Given the description of an element on the screen output the (x, y) to click on. 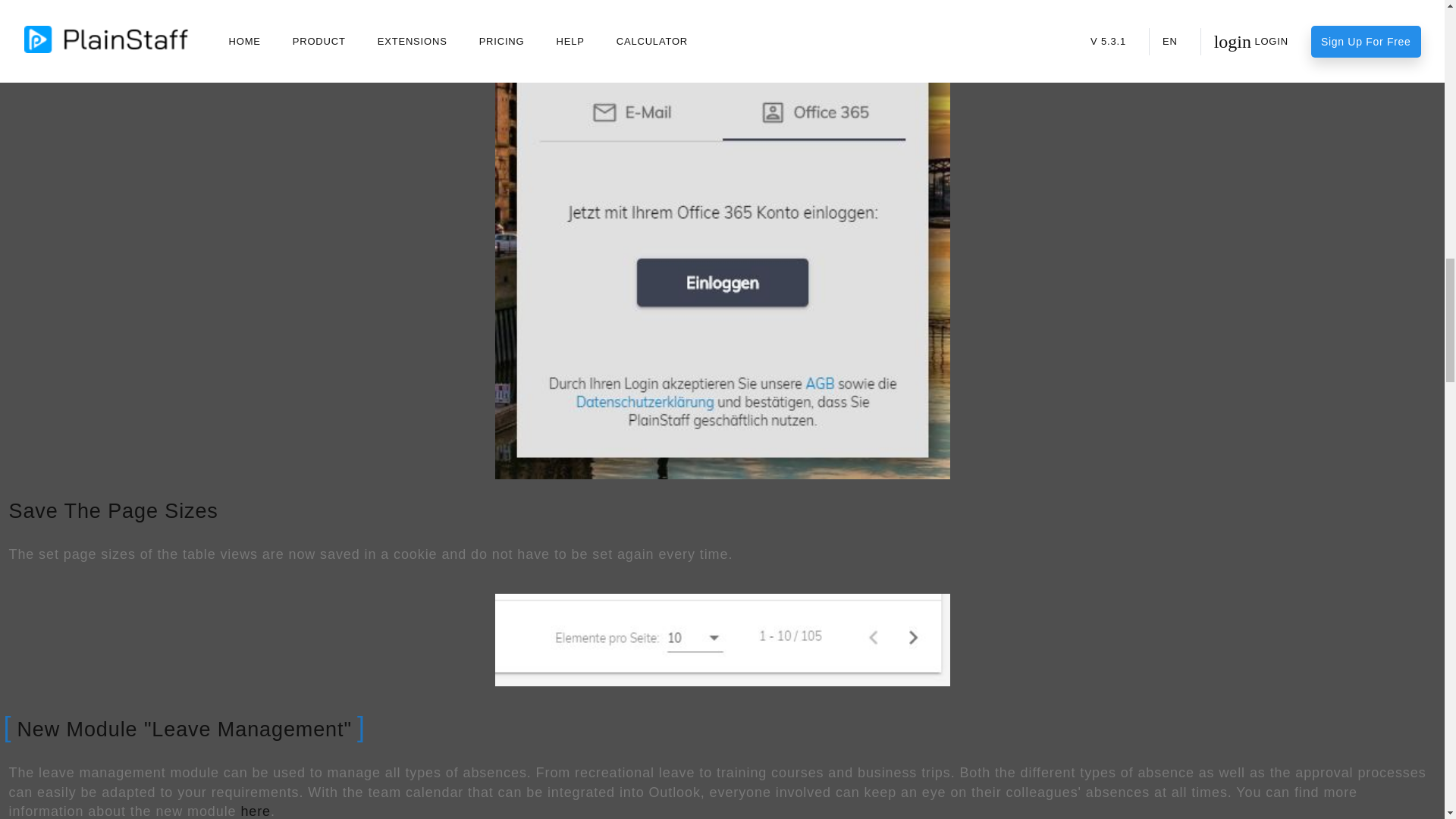
here (255, 811)
